Given the description of an element on the screen output the (x, y) to click on. 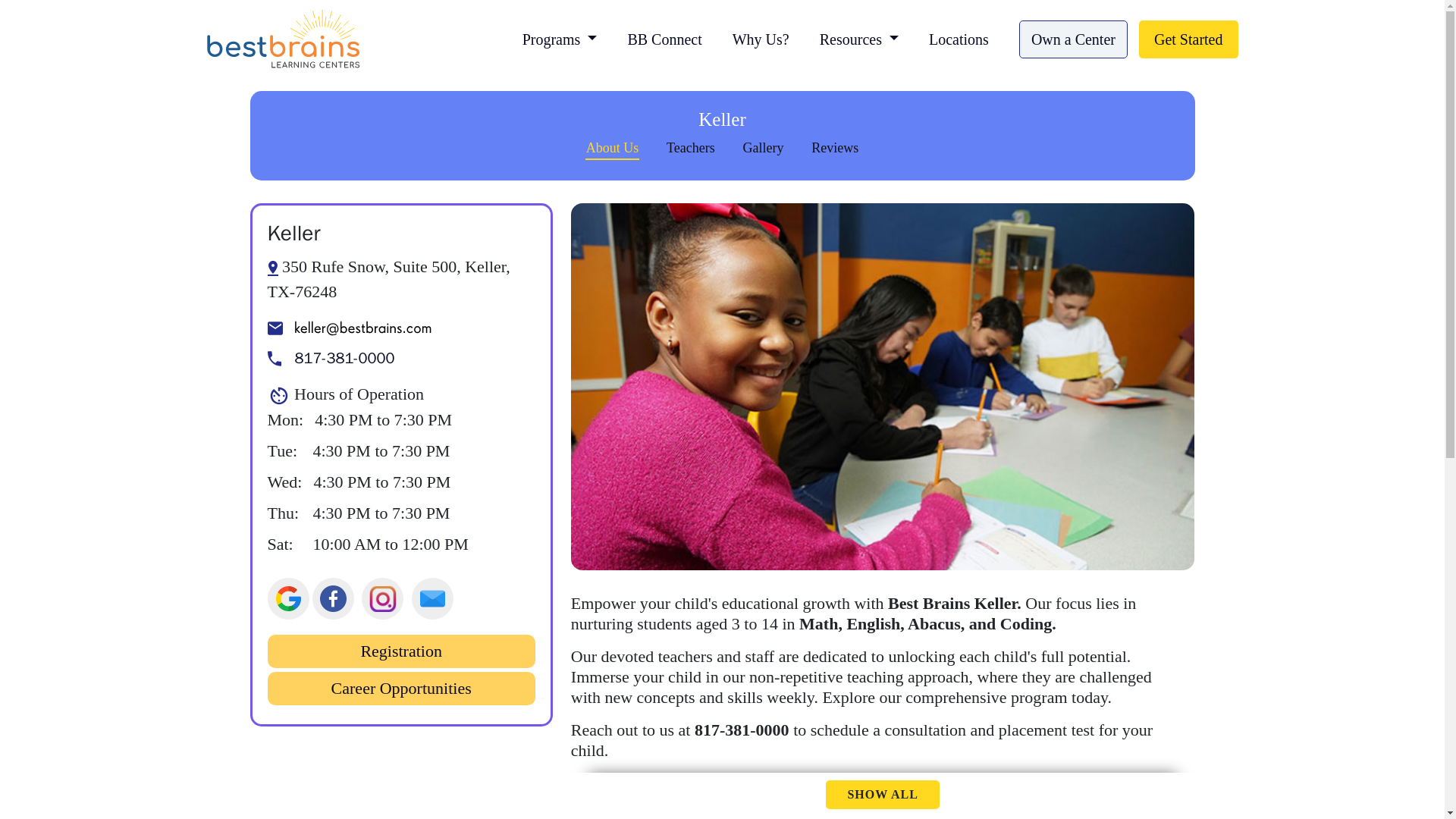
BB Connect (663, 38)
817-381-0000 (400, 358)
Gallery (763, 148)
Resources (859, 38)
Reviews (834, 148)
Why Us? (761, 38)
About Us (612, 148)
Teachers (690, 148)
Locations (959, 38)
Programs (559, 38)
